Given the description of an element on the screen output the (x, y) to click on. 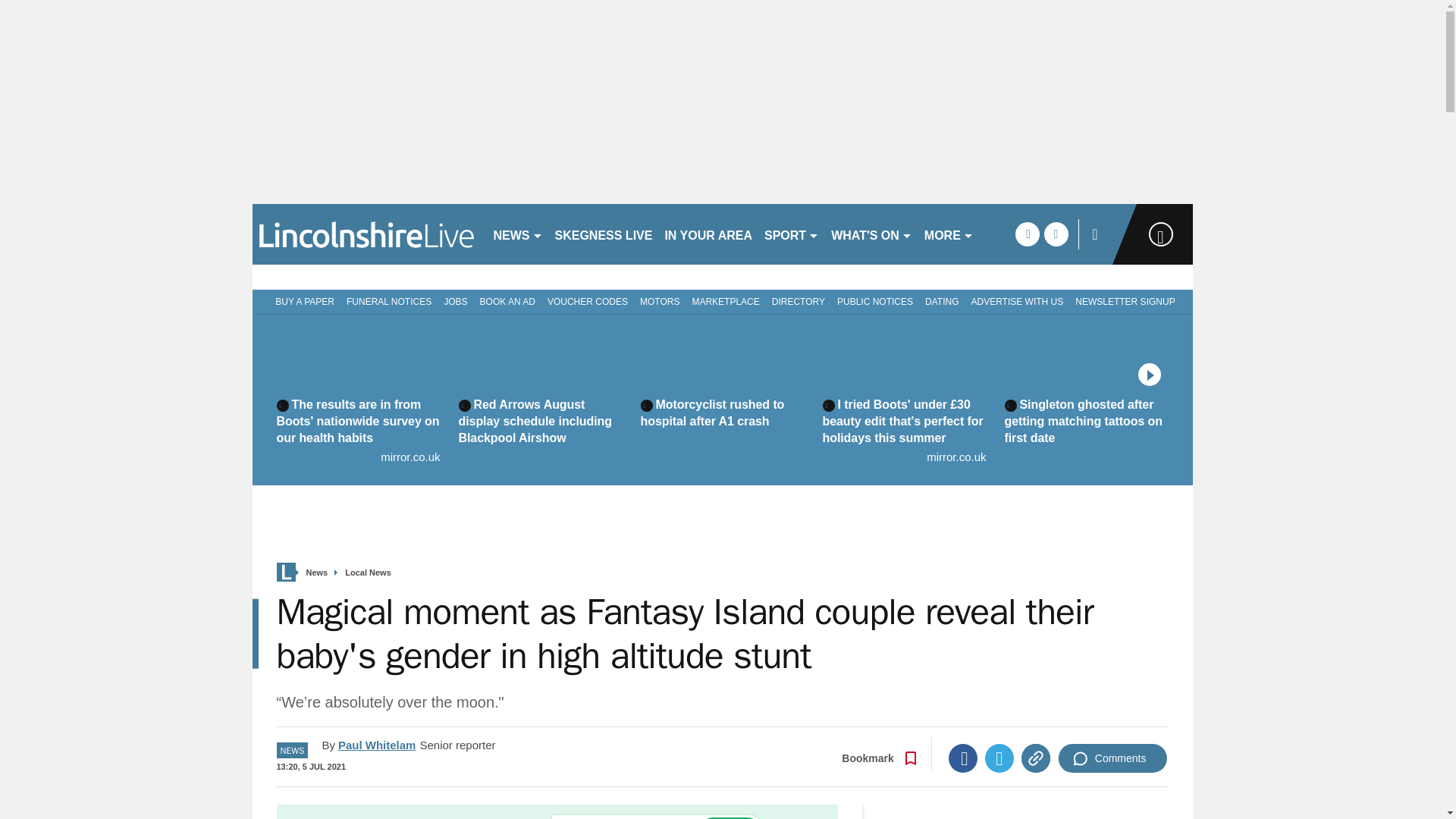
BUY A PAPER (301, 300)
Facebook (962, 758)
IN YOUR AREA (708, 233)
WHAT'S ON (871, 233)
NEWS (517, 233)
facebook (1026, 233)
SPORT (791, 233)
SKEGNESS LIVE (603, 233)
Twitter (999, 758)
Go (730, 818)
MORE (948, 233)
lincolnshirelive (365, 233)
twitter (1055, 233)
Comments (1112, 758)
